Given the description of an element on the screen output the (x, y) to click on. 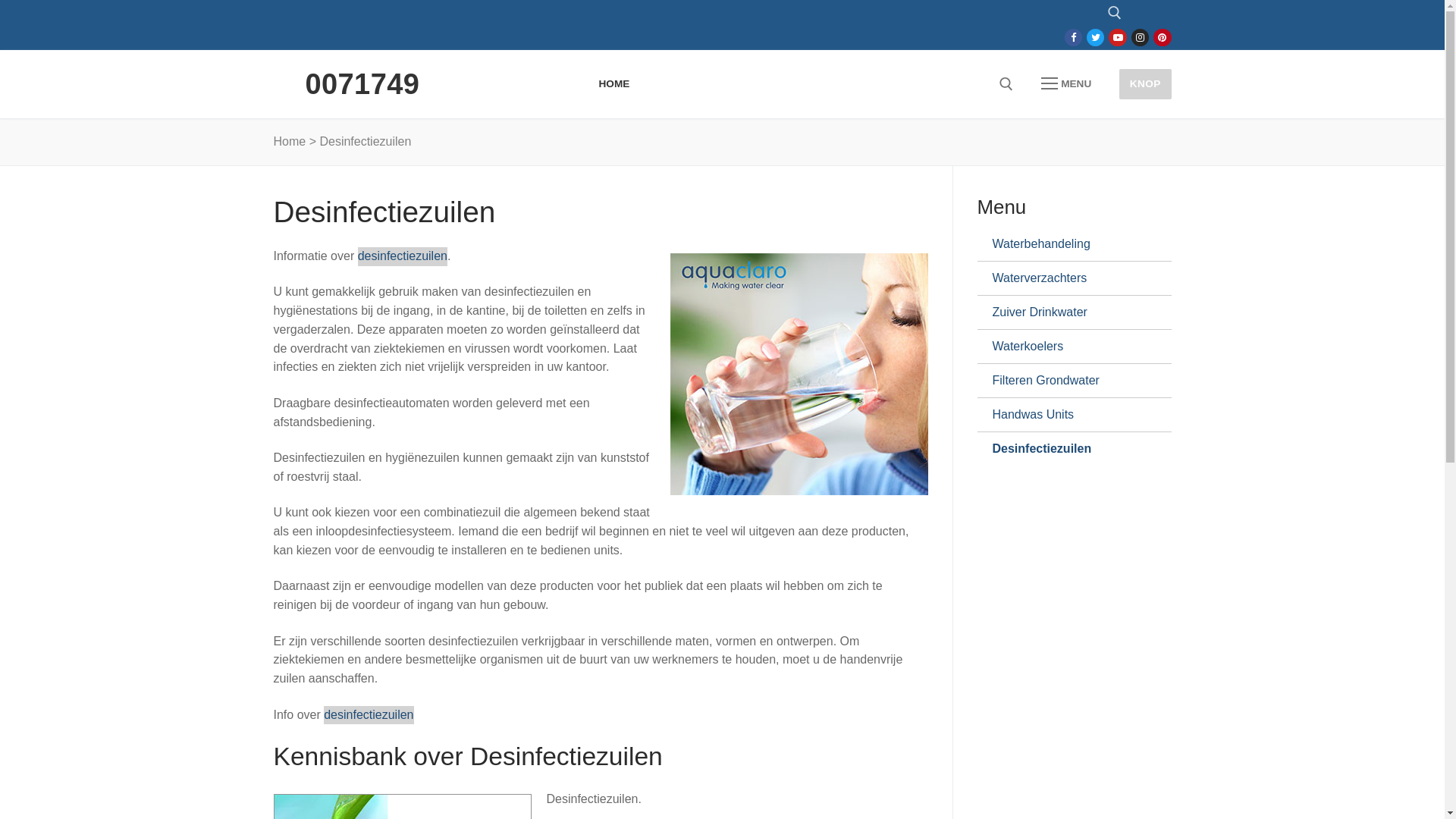
MENU Element type: text (1066, 84)
Waterbehandeling Element type: text (1067, 243)
Twitter Element type: hover (1095, 37)
HOME Element type: text (613, 83)
desinfectiezuilen Element type: text (402, 256)
0071749 Element type: text (361, 83)
Filteren Grondwater Element type: text (1067, 380)
Facebook Element type: hover (1073, 37)
desinfectiezuilen Element type: text (368, 715)
Desinfectiezuilen Element type: text (1067, 448)
Waterkoelers Element type: text (1067, 346)
Zuiver Drinkwater Element type: text (1067, 312)
Pinterest Element type: hover (1162, 37)
Youtube Element type: hover (1118, 37)
Handwas Units Element type: text (1067, 414)
Instagram Element type: hover (1140, 37)
Waterverzachters Element type: text (1067, 277)
KNOP Element type: text (1144, 83)
